Given the description of an element on the screen output the (x, y) to click on. 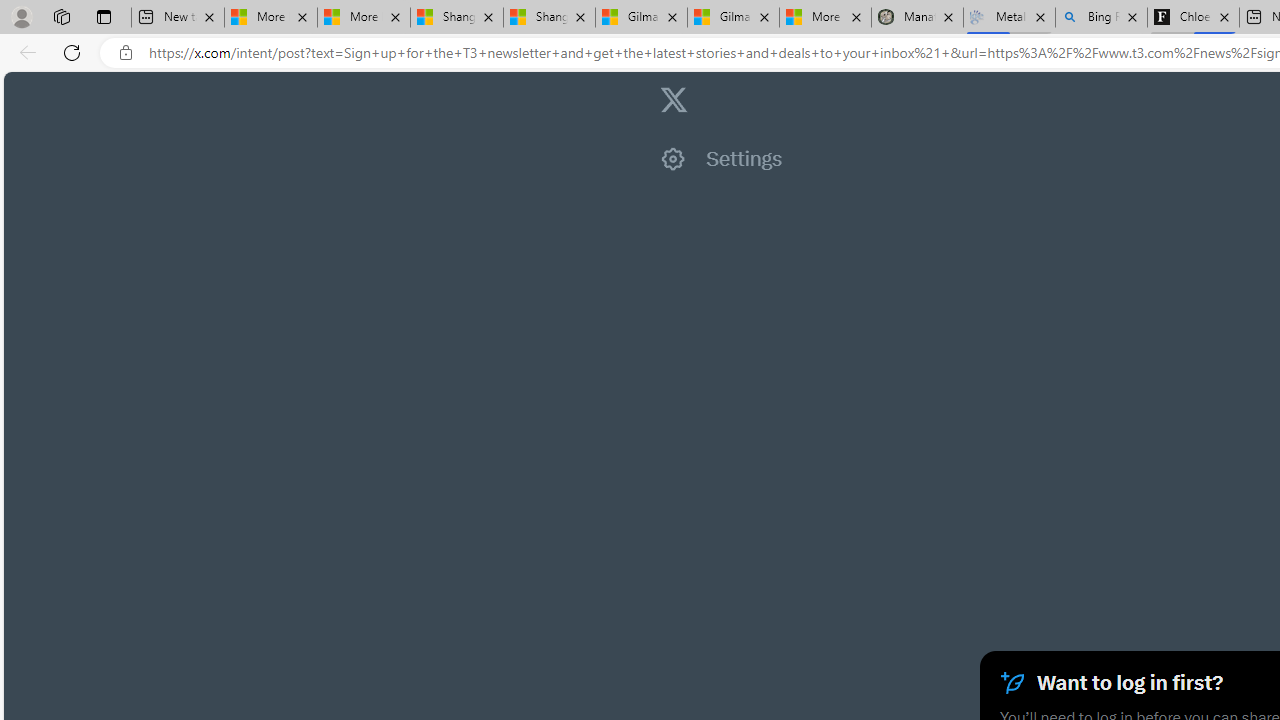
Manatee Mortality Statistics | FWC (916, 17)
Chloe Sorvino (1193, 17)
